Given the description of an element on the screen output the (x, y) to click on. 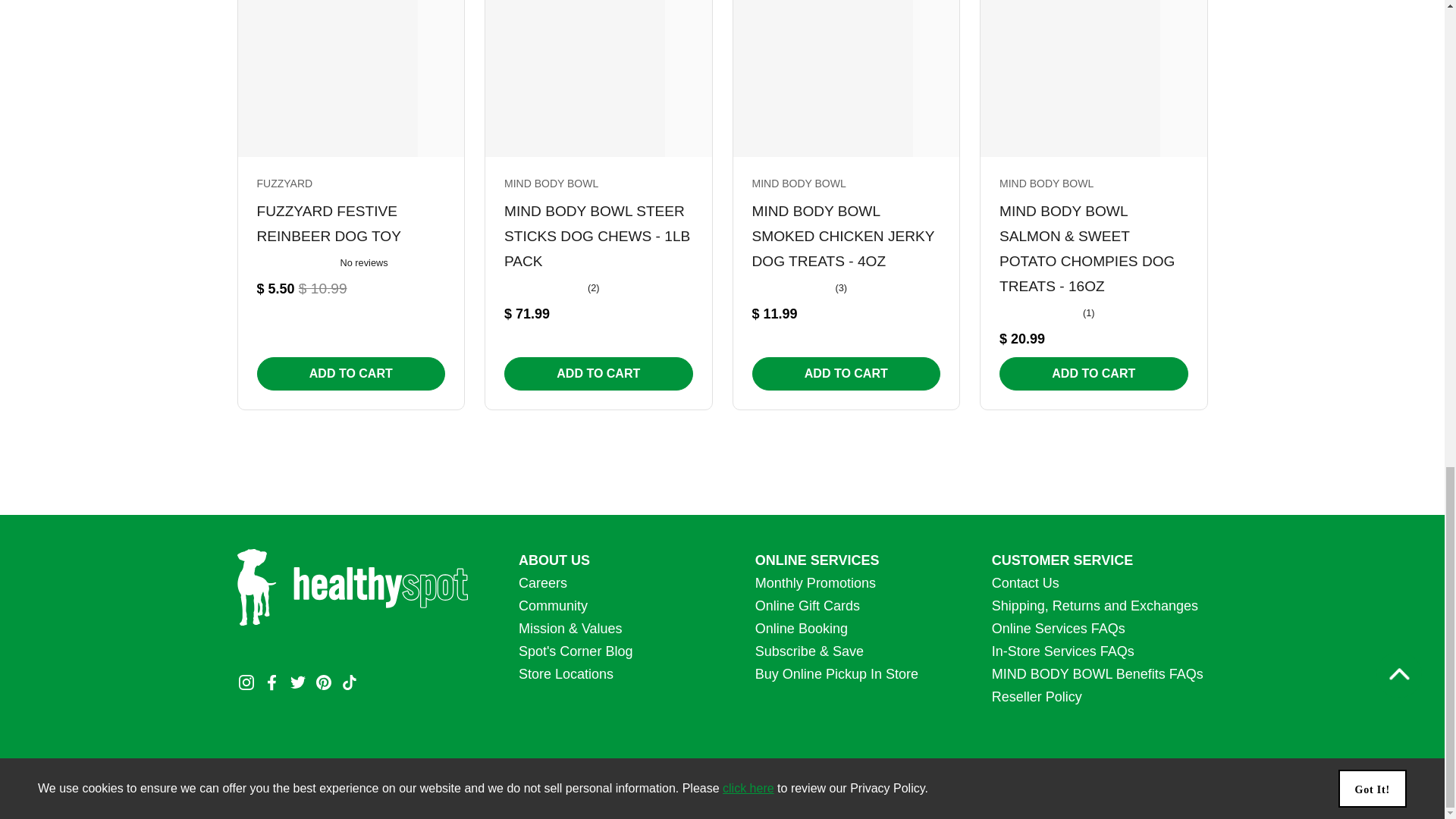
Fuzzyard Festive Reinbeer Dog Toy (350, 218)
MIND BODY BOWL Smoked Chicken Jerky Dog Treats - 4oz (846, 230)
MIND BODY BOWL Steer Sticks Dog Chews - 1lb Pack (598, 230)
